Given the description of an element on the screen output the (x, y) to click on. 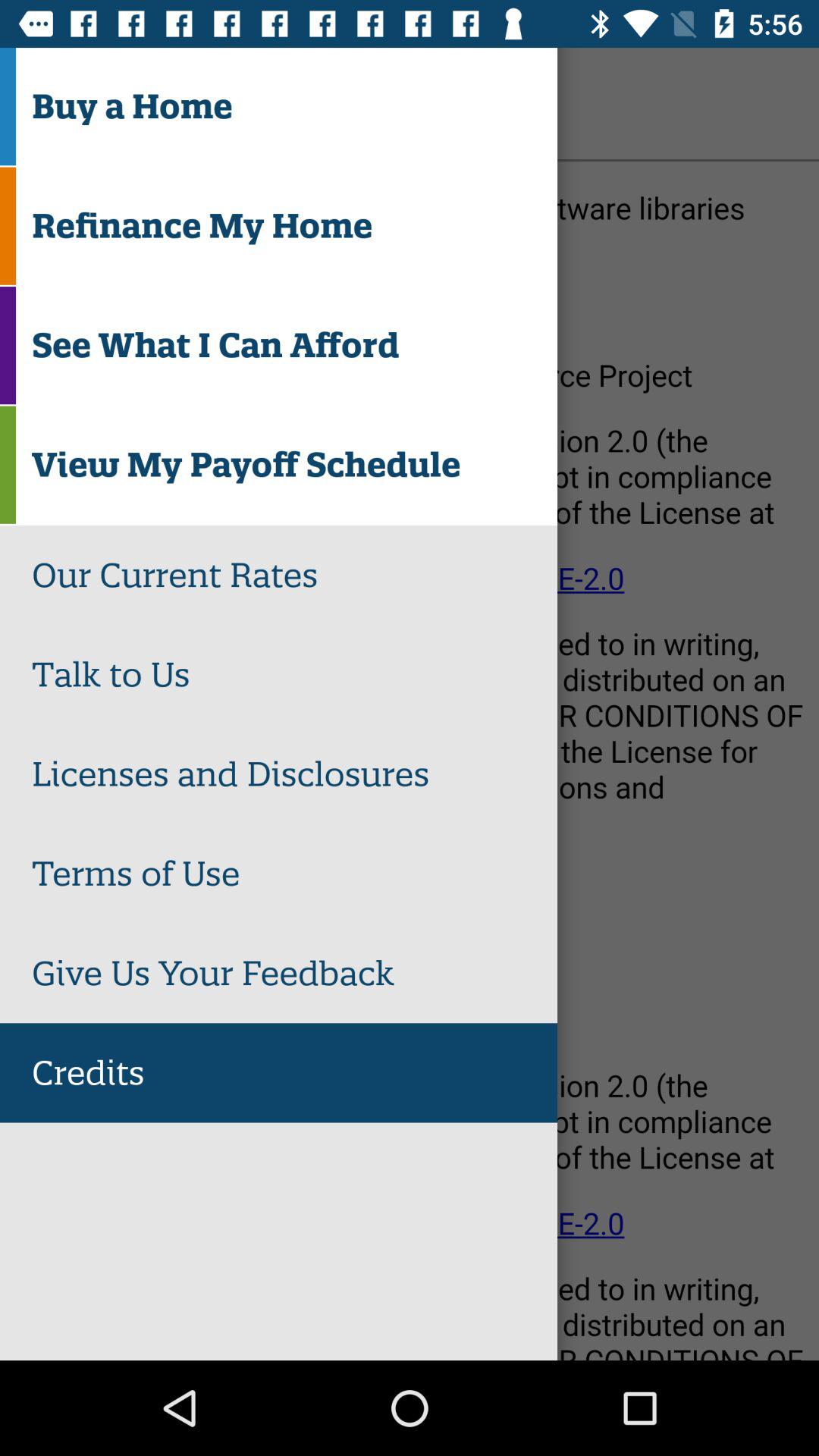
press item below talk to us (294, 774)
